Given the description of an element on the screen output the (x, y) to click on. 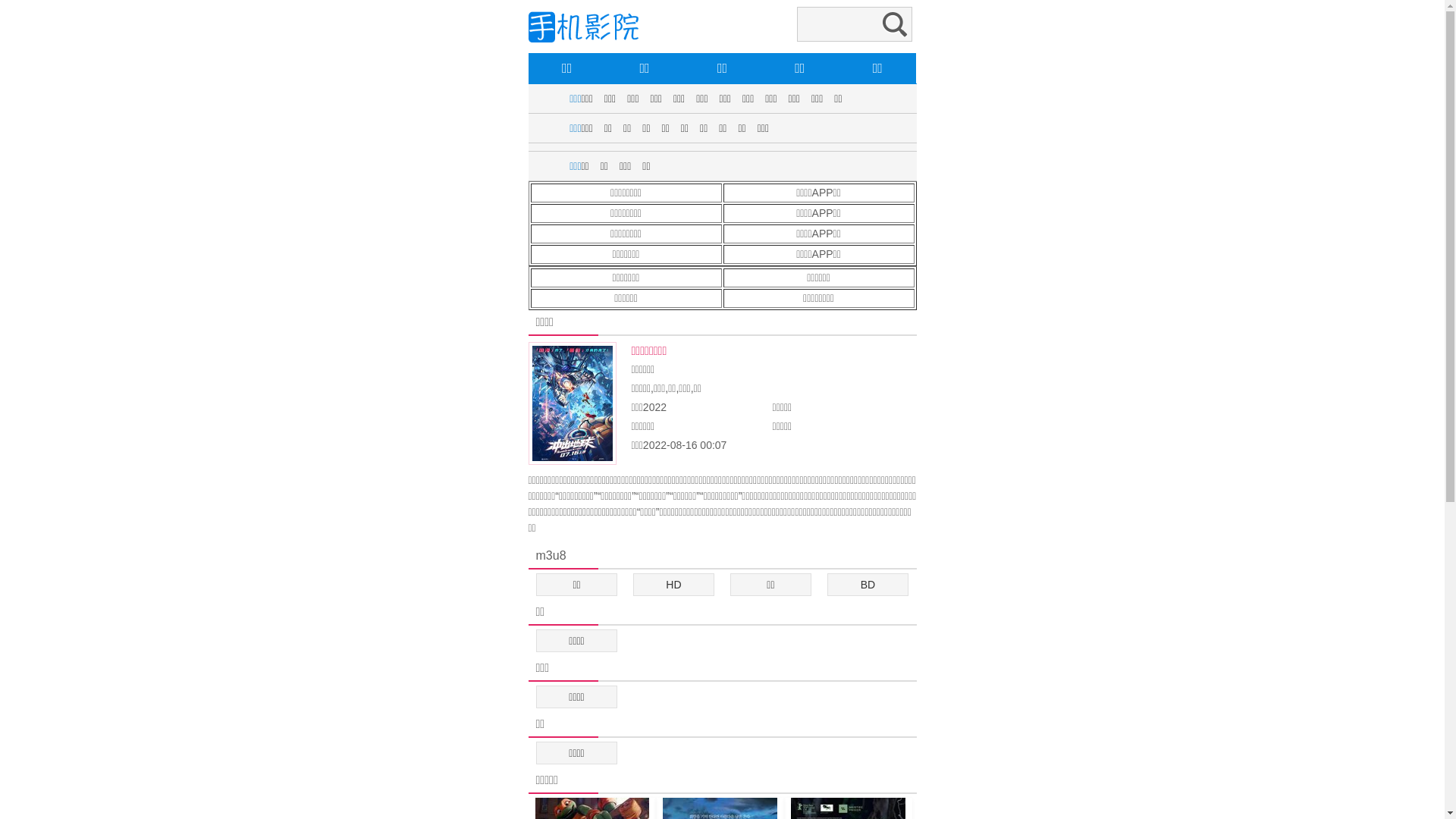
BD Element type: text (868, 584)
HD Element type: text (674, 584)
